Given the description of an element on the screen output the (x, y) to click on. 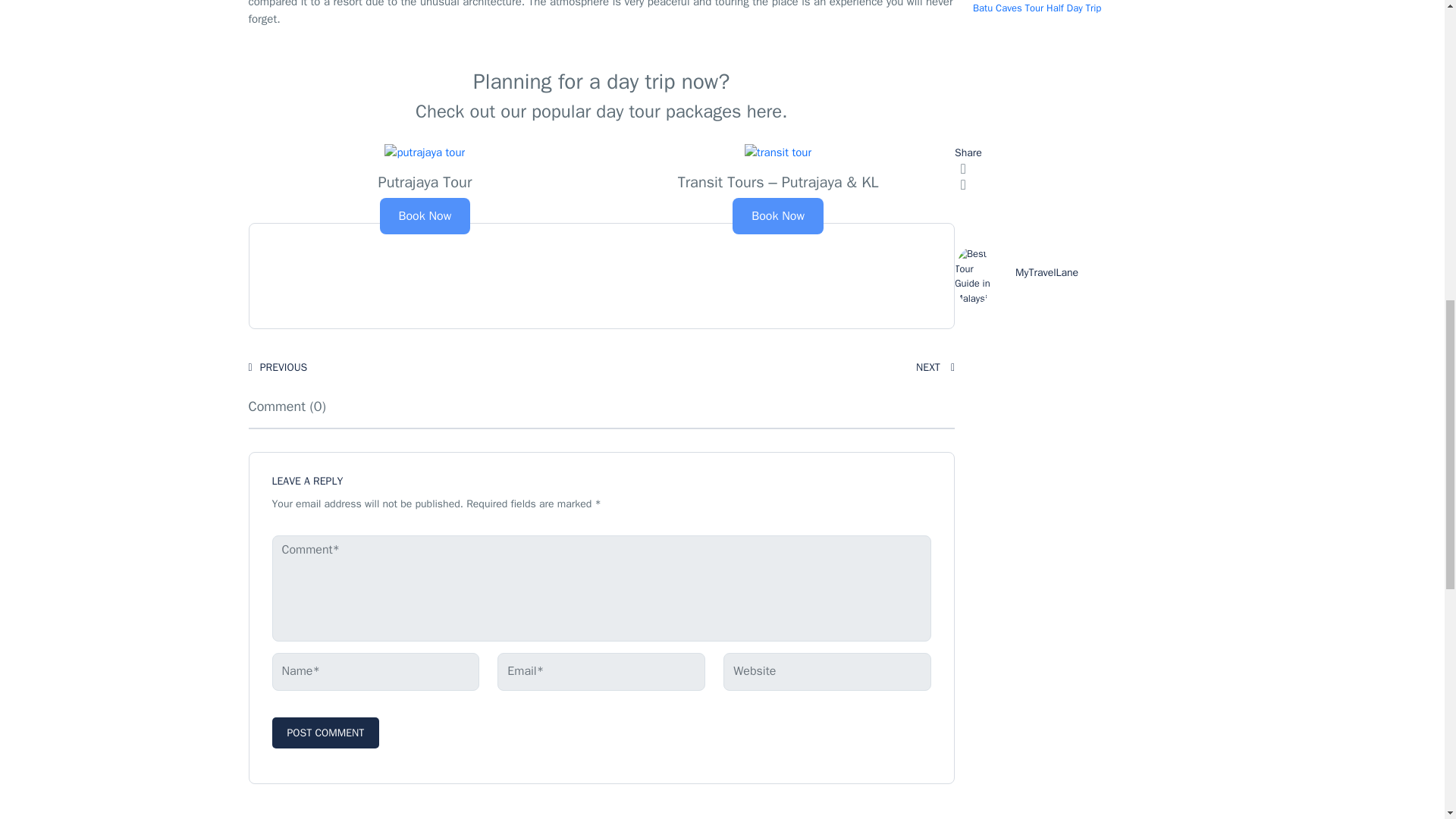
Book Now (425, 216)
Post Comment (324, 732)
Post Comment (324, 732)
Book Now (778, 216)
Batu Caves Tour Half Day Trip (1036, 7)
PREVIOUS (277, 367)
NEXT (935, 367)
